Given the description of an element on the screen output the (x, y) to click on. 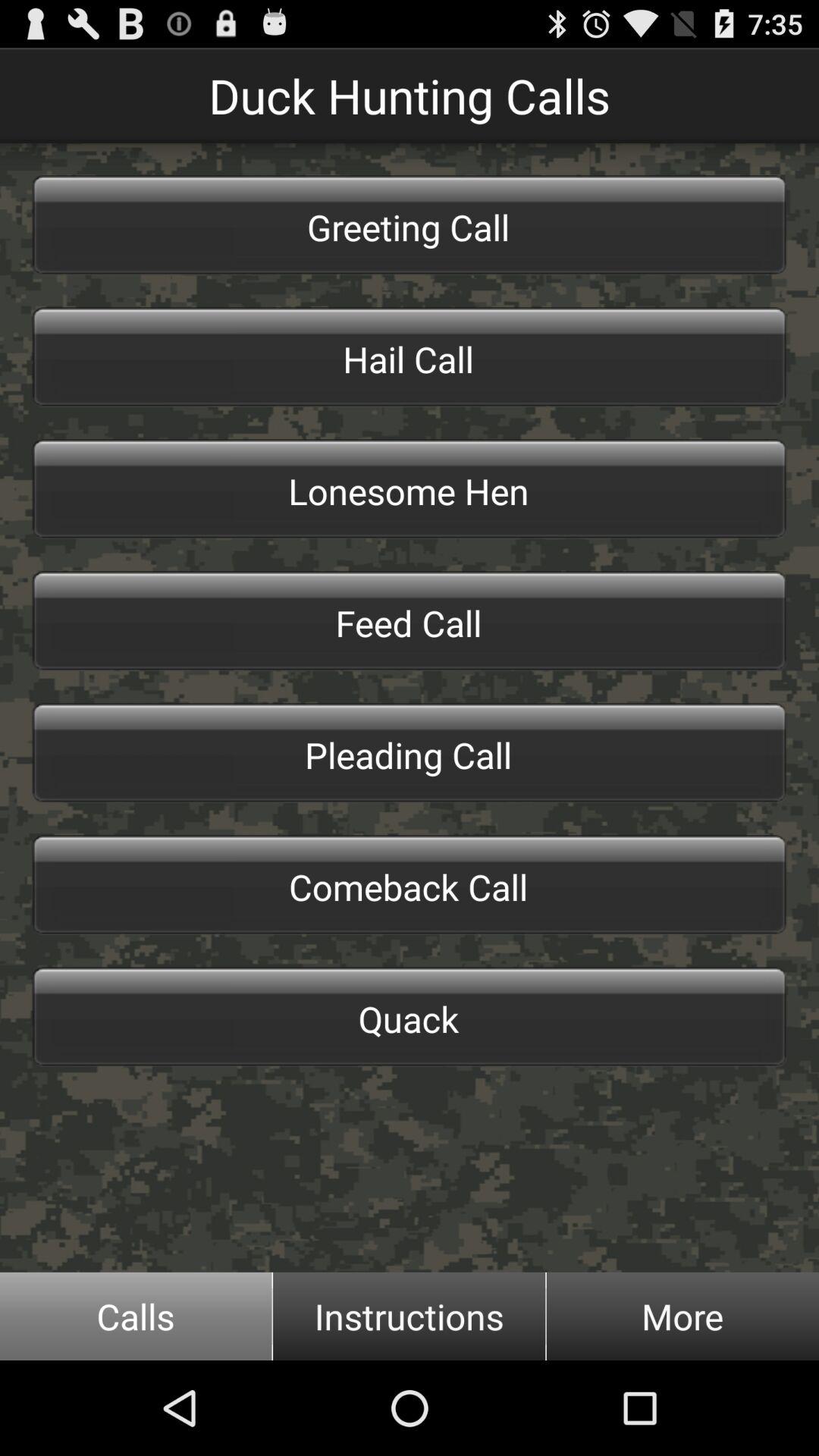
turn off icon above feed call button (409, 489)
